Given the description of an element on the screen output the (x, y) to click on. 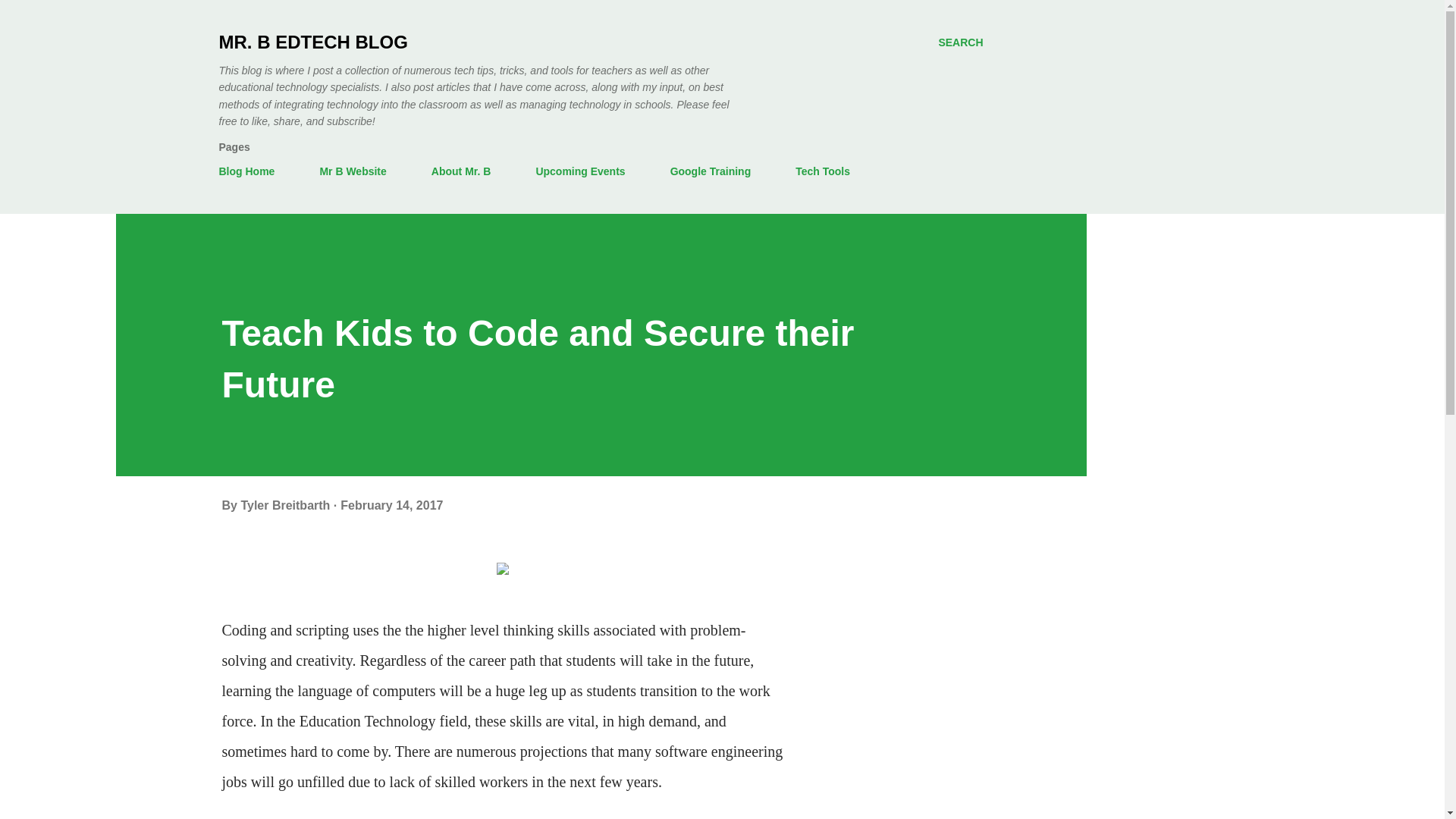
Google Training (710, 171)
permanent link (391, 504)
February 14, 2017 (391, 504)
Tech Tools (822, 171)
SEARCH (959, 42)
MR. B EDTECH BLOG (312, 41)
Blog Home (250, 171)
Tyler Breitbarth (286, 504)
About Mr. B (461, 171)
Mr B Website (352, 171)
author profile (286, 504)
Upcoming Events (579, 171)
